Given the description of an element on the screen output the (x, y) to click on. 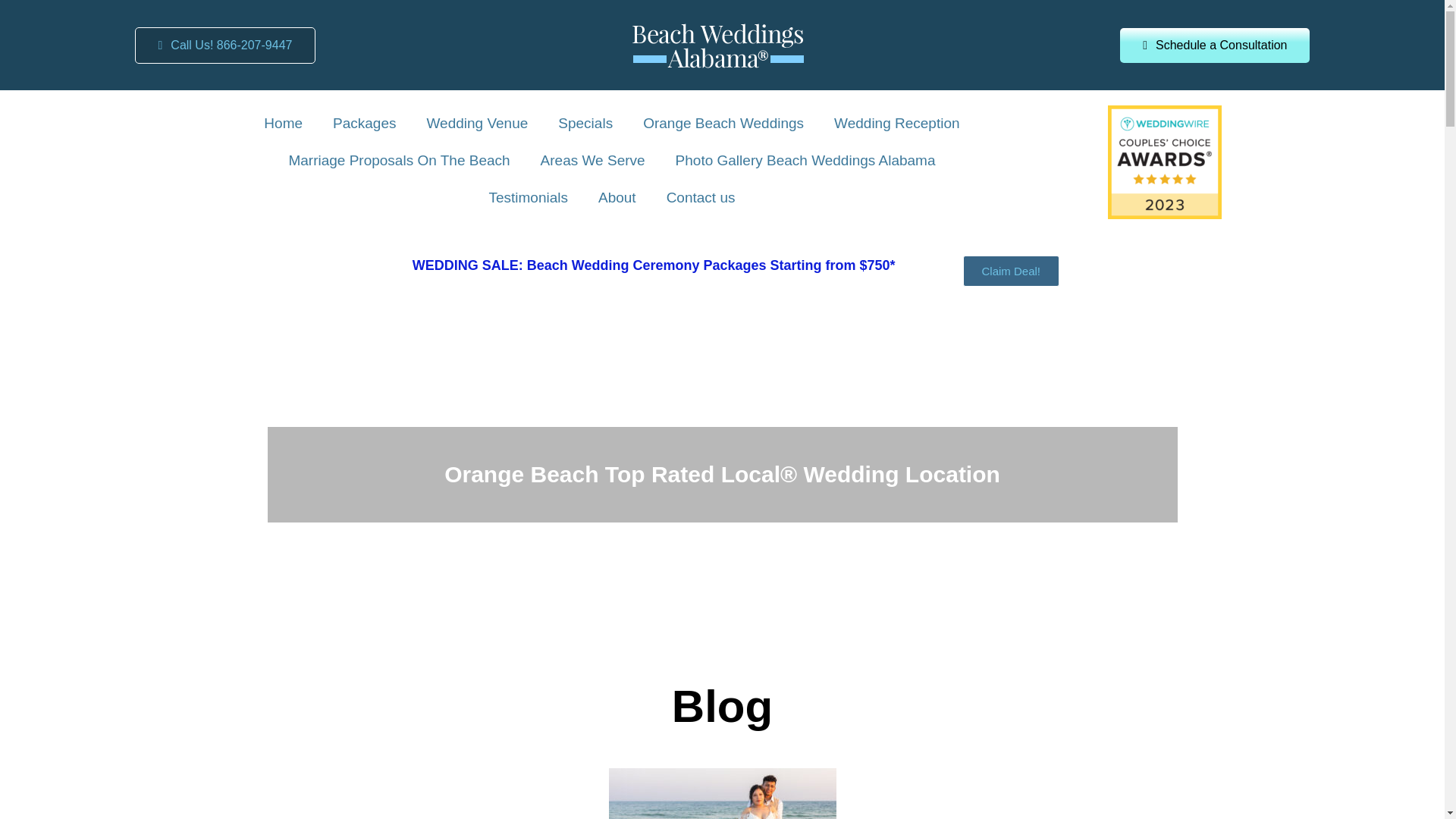
Photo Gallery Beach Weddings Alabama (805, 160)
Wedding Venue (476, 123)
Call Us! 866-207-9447 (225, 45)
Schedule a Consultation (1213, 44)
Packages (363, 123)
Areas We Serve (593, 160)
Home (282, 123)
About (616, 198)
Testimonials (528, 198)
Specials (585, 123)
